Given the description of an element on the screen output the (x, y) to click on. 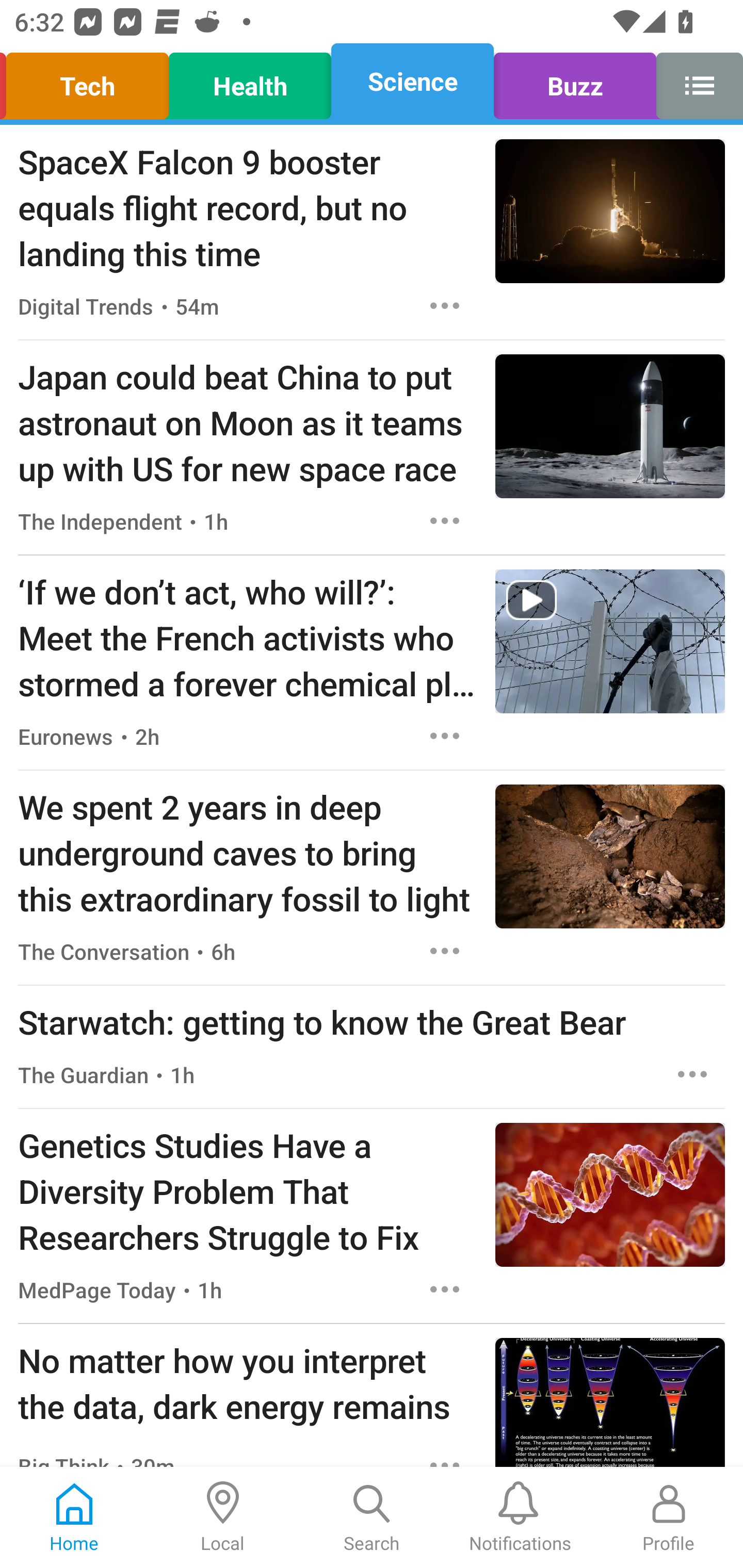
Tech (89, 81)
Health (249, 81)
Science (412, 81)
Buzz (574, 81)
 (694, 81)
Options (444, 305)
Options (444, 520)
Options (444, 736)
Options (444, 950)
Options (692, 1074)
Options (444, 1289)
Local (222, 1517)
Search (371, 1517)
Notifications (519, 1517)
Profile (668, 1517)
